Given the description of an element on the screen output the (x, y) to click on. 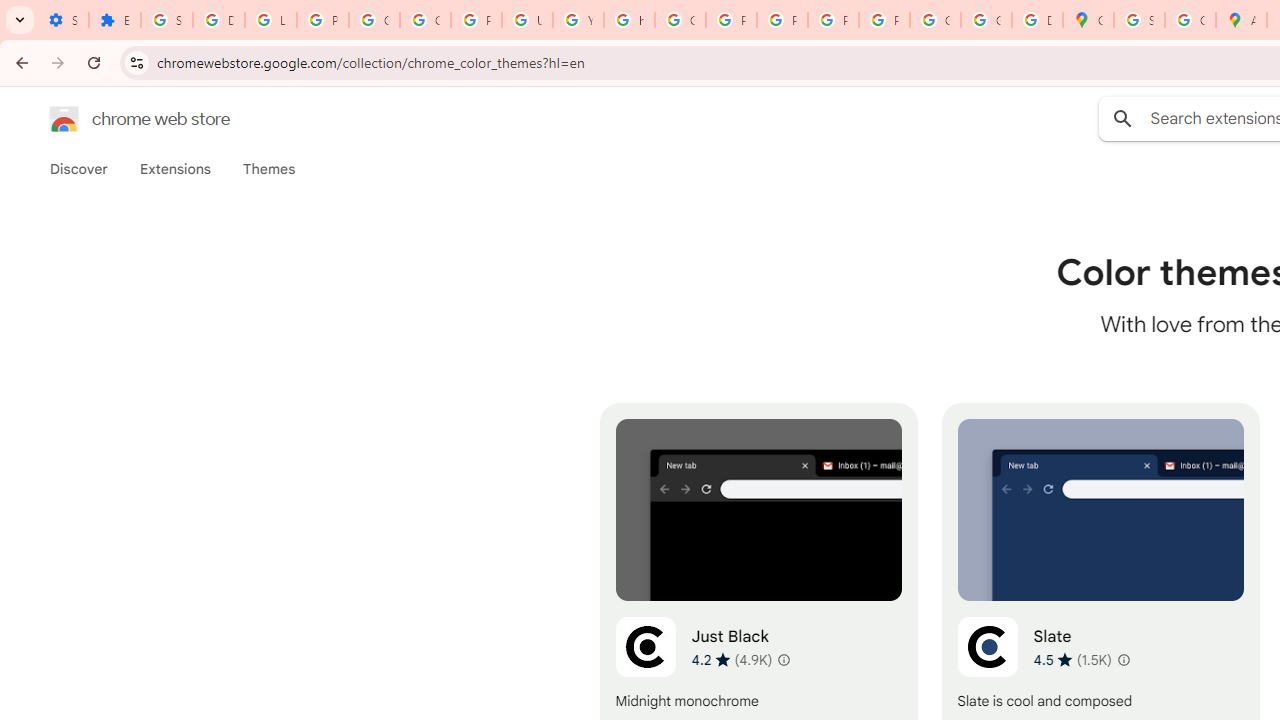
Themes (269, 169)
Create your Google Account (1189, 20)
https://scholar.google.com/ (629, 20)
Extensions (174, 169)
Chrome Web Store logo (63, 118)
Discover (79, 169)
